Given the description of an element on the screen output the (x, y) to click on. 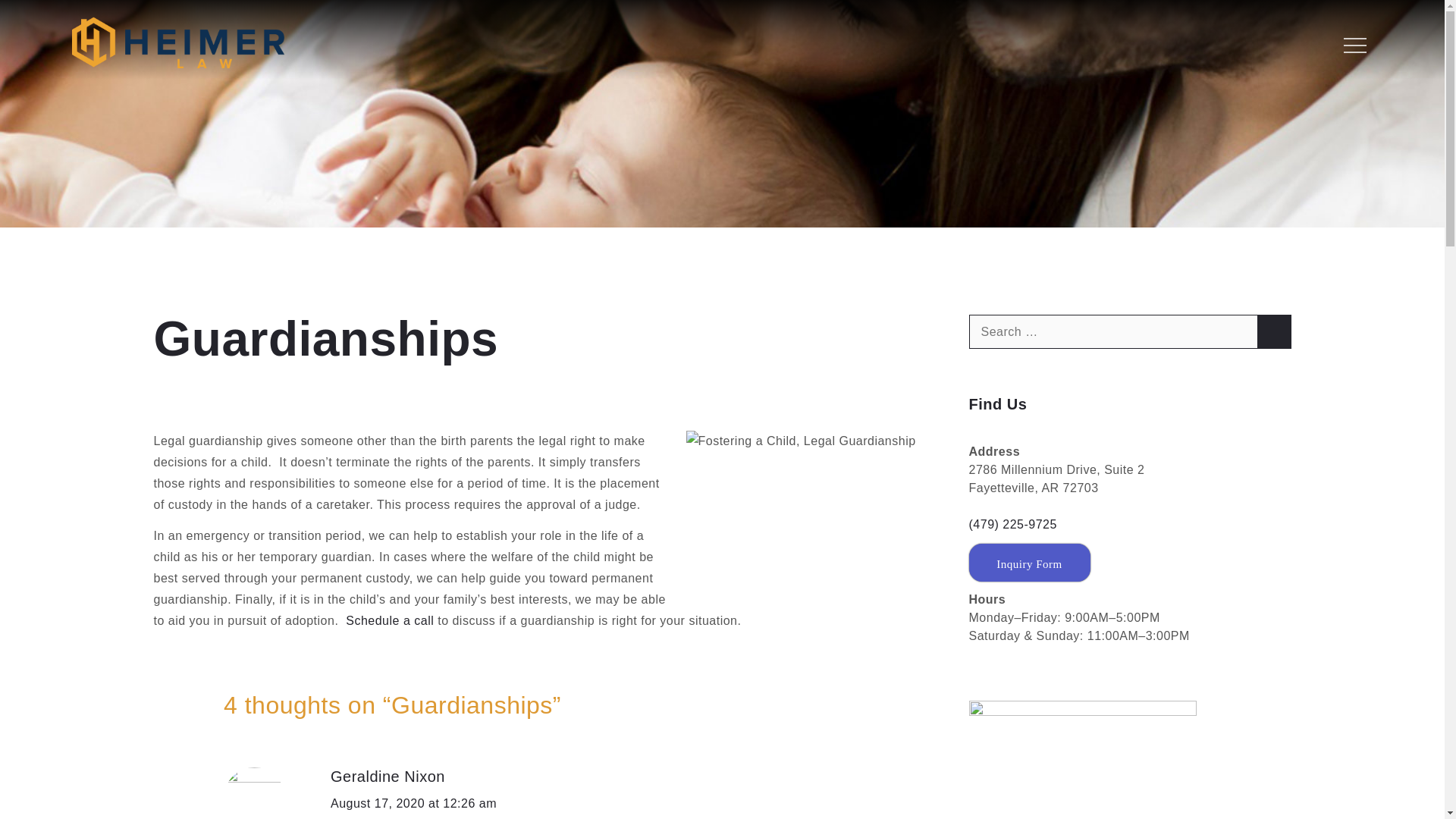
Inquiry Form (1029, 562)
Legal Guardianship (811, 514)
Schedule a call (389, 620)
August 17, 2020 at 12:26 am (413, 802)
